Given the description of an element on the screen output the (x, y) to click on. 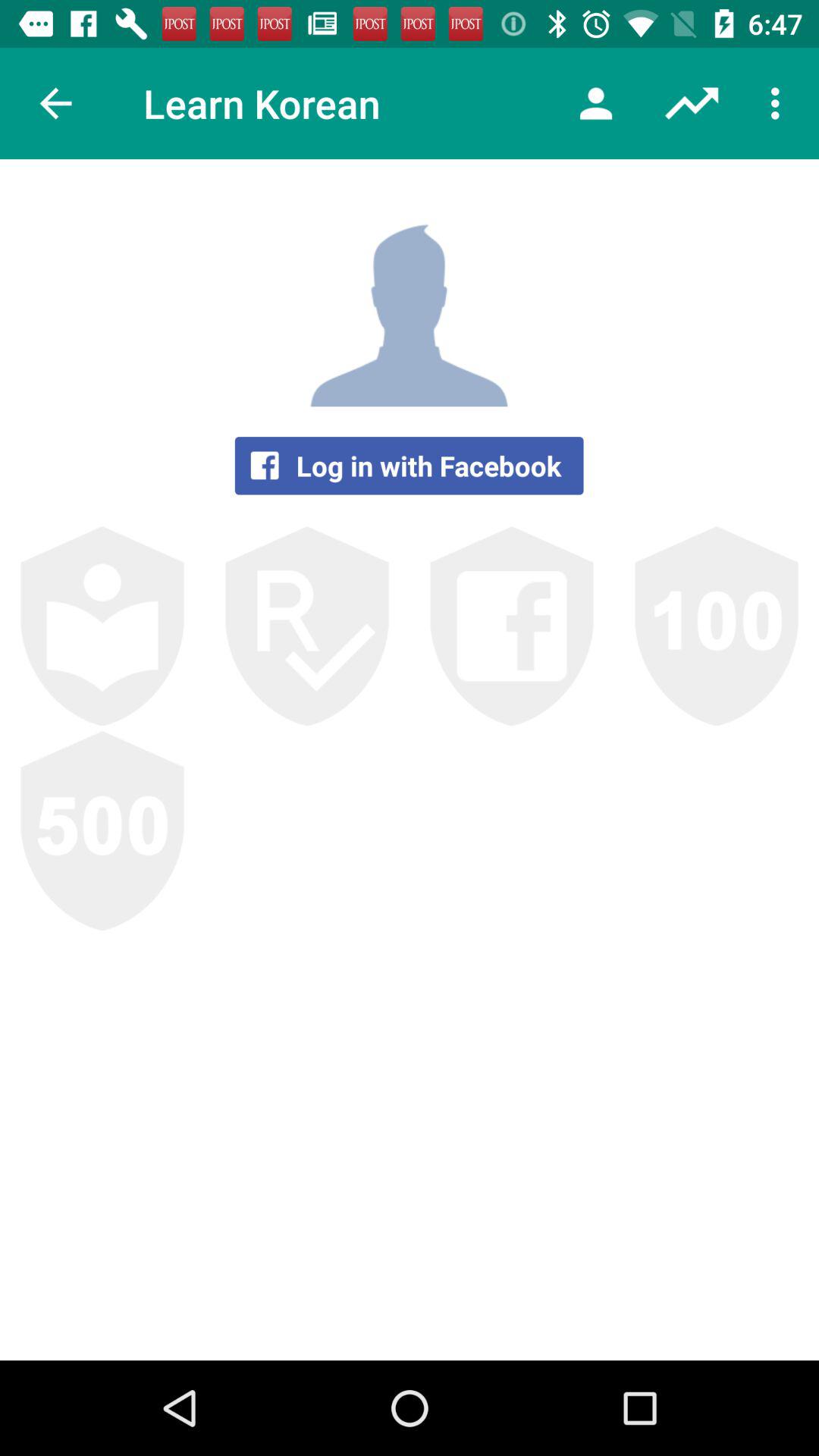
turn on icon above log in with item (595, 103)
